Given the description of an element on the screen output the (x, y) to click on. 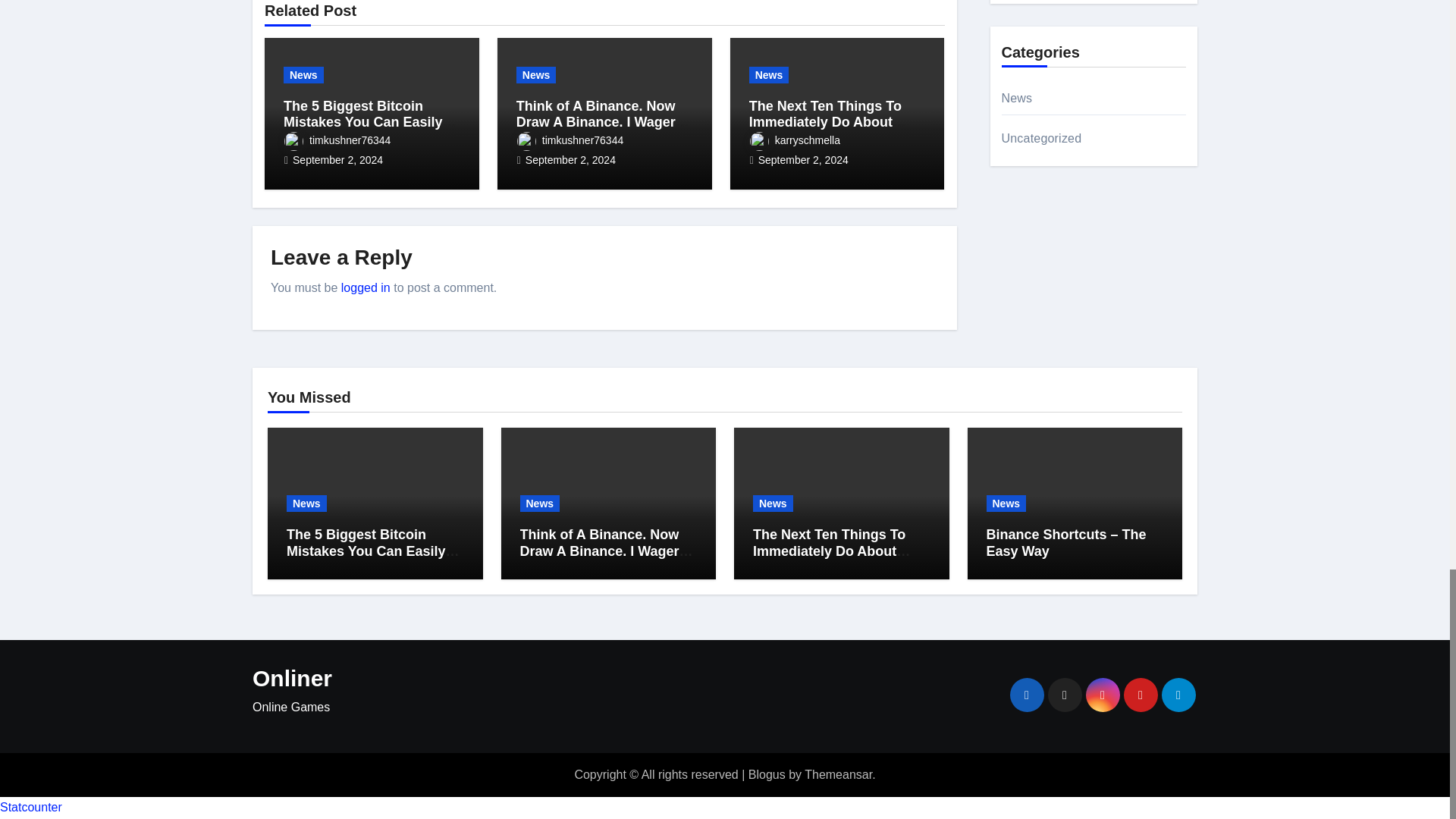
The 5 Biggest Bitcoin Mistakes You Can Easily Avoid (369, 122)
News (303, 74)
